Given the description of an element on the screen output the (x, y) to click on. 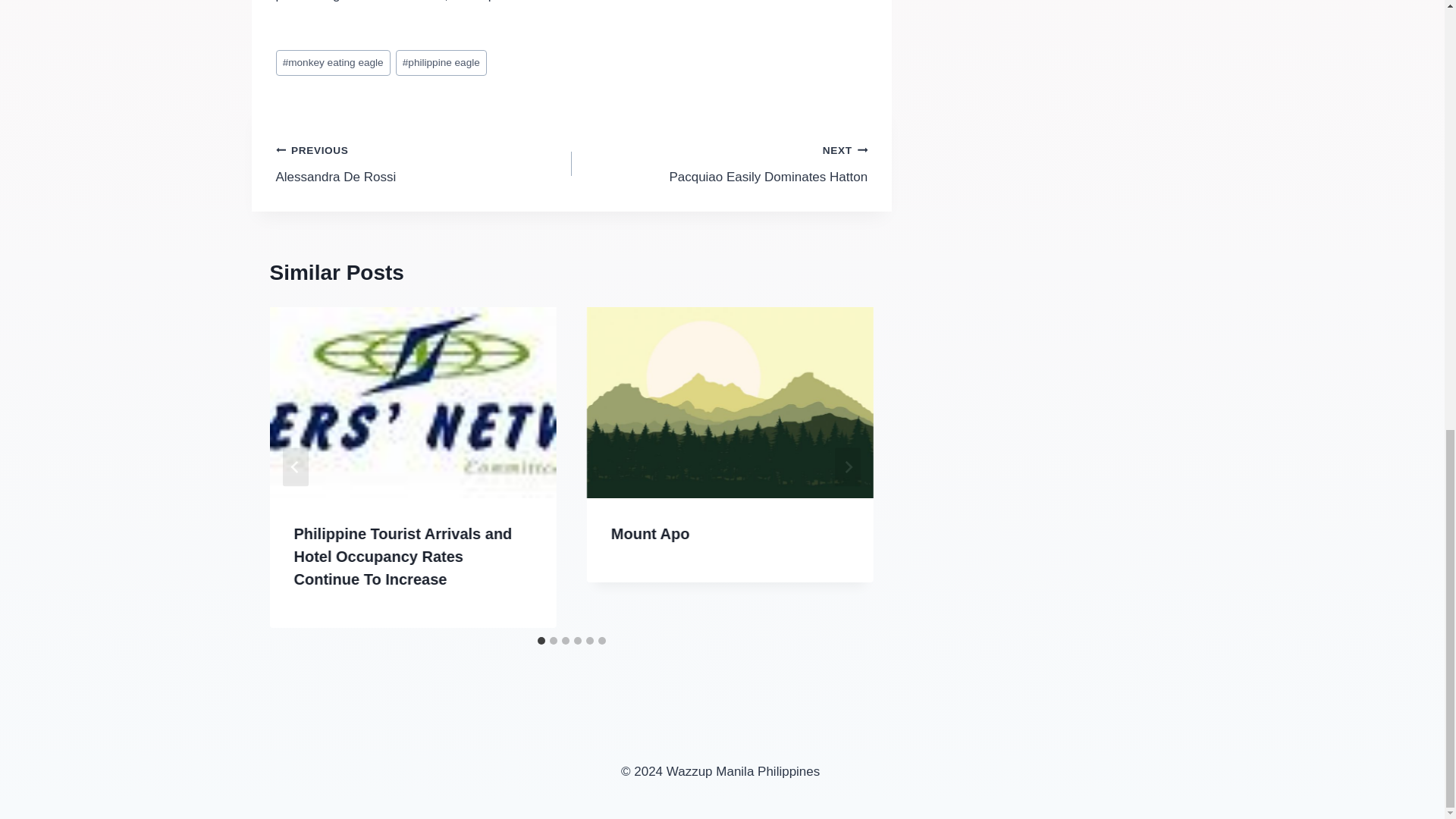
philippine eagle (441, 62)
monkey eating eagle (333, 62)
